Given the description of an element on the screen output the (x, y) to click on. 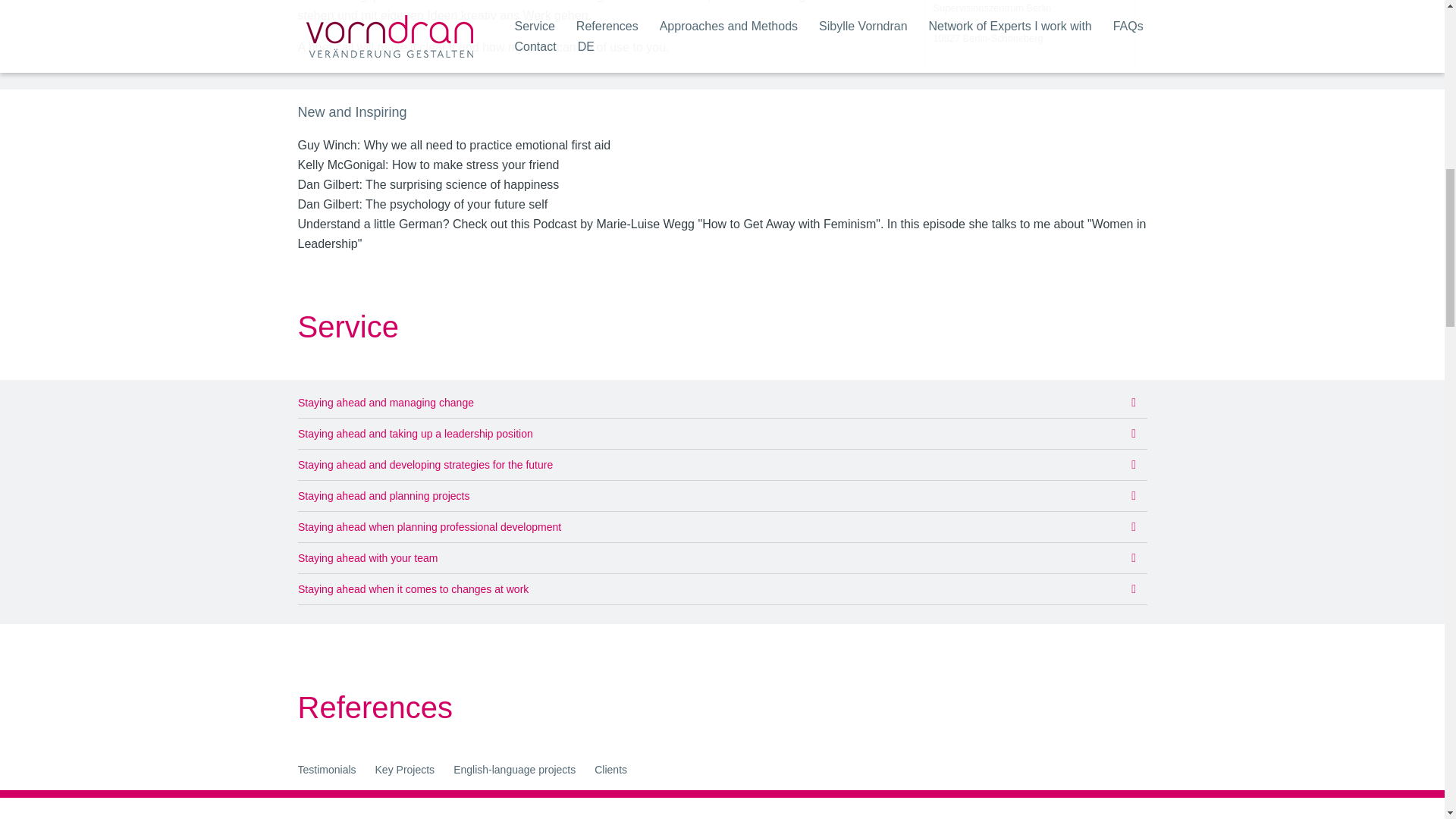
Staying ahead and managing change (385, 402)
Kelly McGonigal: How to make stress your friend (428, 164)
Staying ahead when planning professional development (428, 526)
Staying ahead and taking up a leadership position (414, 433)
Guy Winch: Why we all need to practice emotional first aid (453, 144)
Podcast in German (721, 233)
Dan Gilbert: The psychology of your future self (422, 204)
Staying ahead and planning projects (382, 495)
Dan Gilbert: The surprising science of happiness (428, 184)
Staying ahead and developing strategies for the future (424, 464)
